Given the description of an element on the screen output the (x, y) to click on. 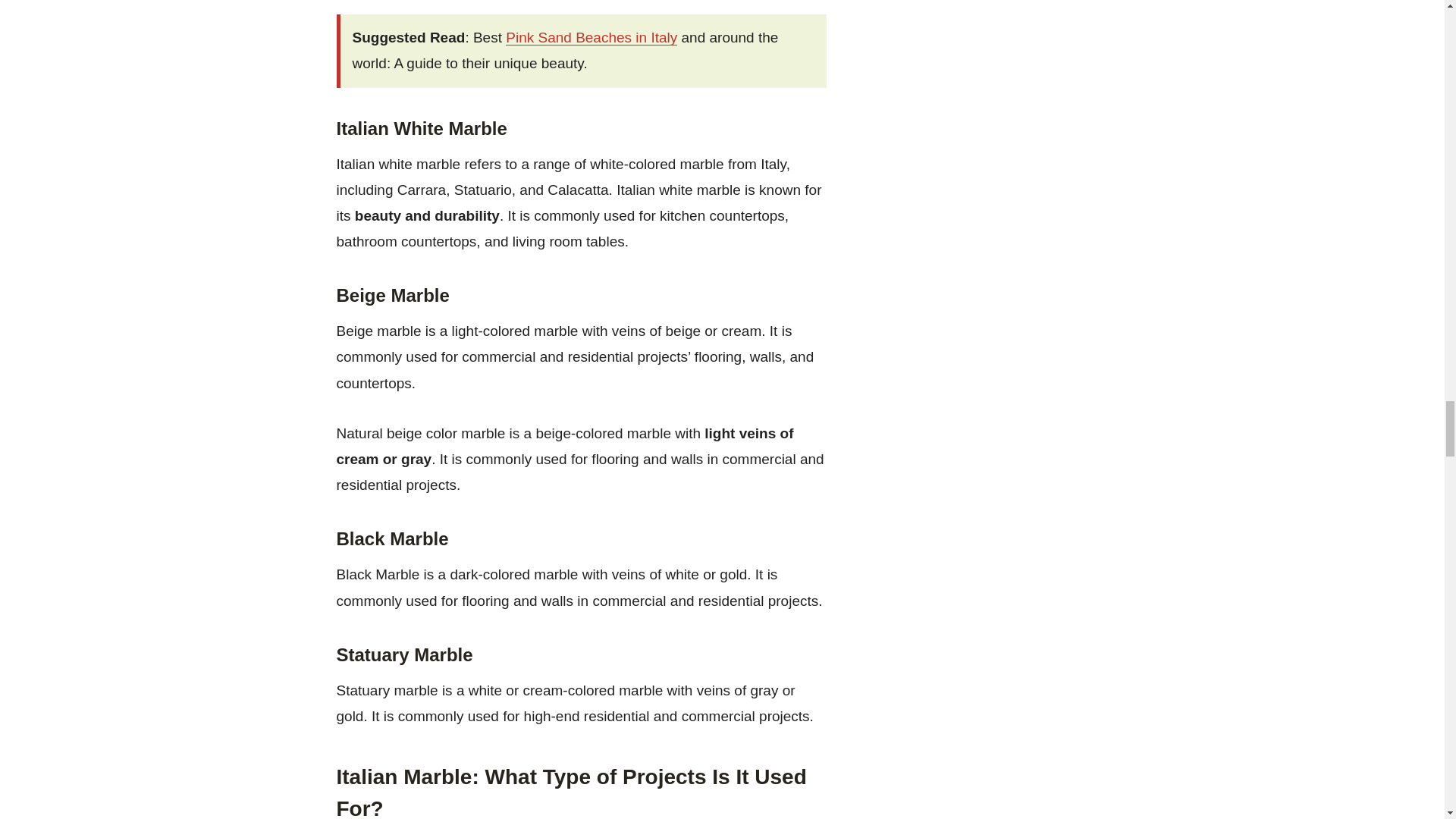
Pink Sand Beaches in Italy (591, 37)
